Given the description of an element on the screen output the (x, y) to click on. 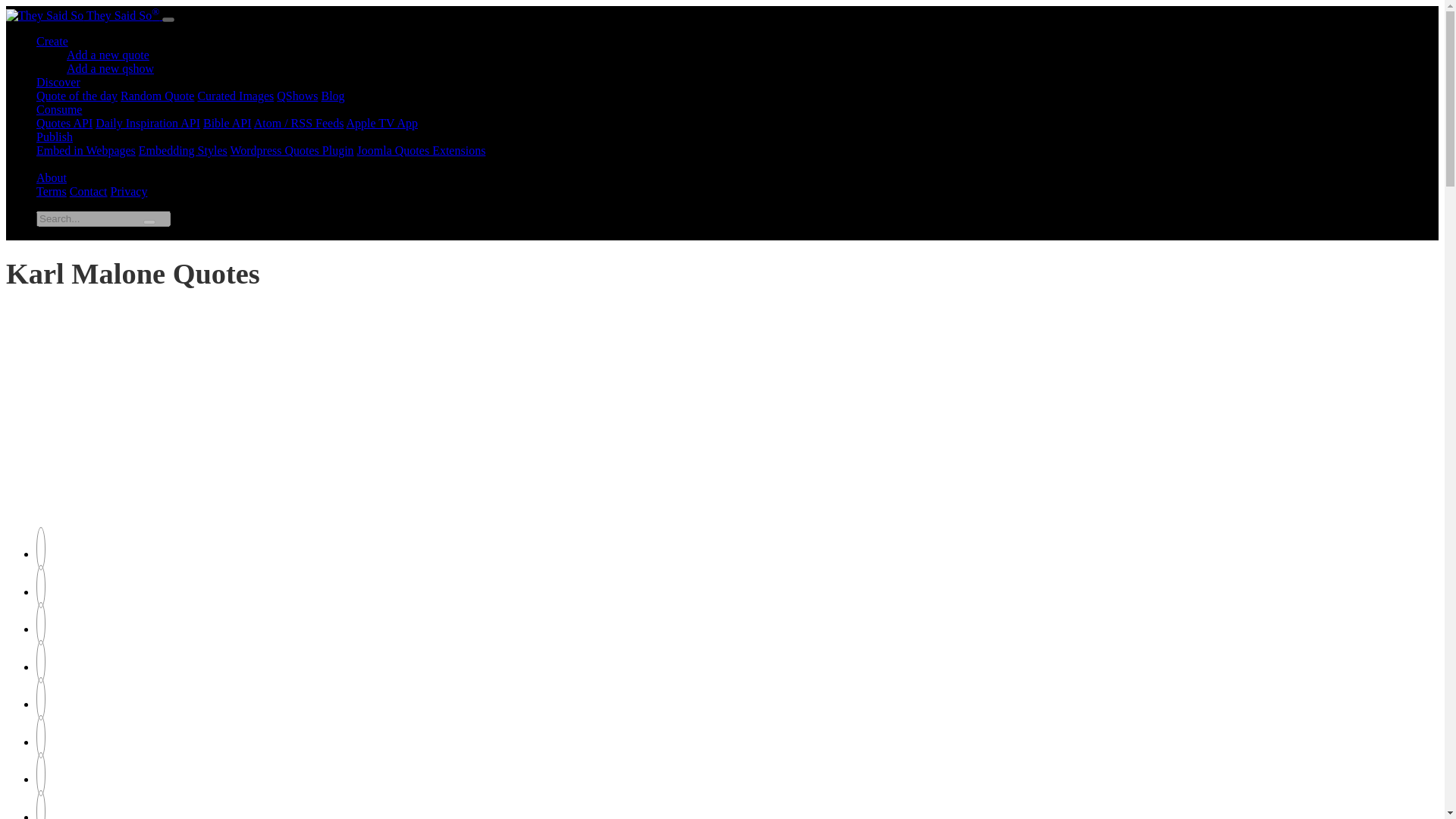
Quote of the day (76, 95)
Apple TV App (381, 123)
Terms (51, 191)
QShows (296, 95)
They Said So Blog (333, 95)
Privacy (129, 191)
Create (52, 41)
Wordpress Quotes Plugin (291, 150)
Embed in Webpages (85, 150)
Add a new quote (107, 54)
